Given the description of an element on the screen output the (x, y) to click on. 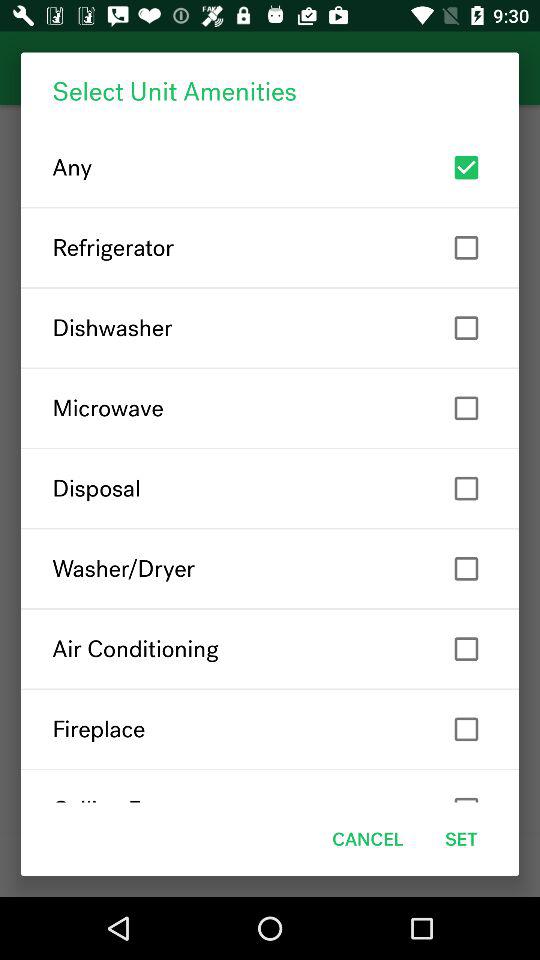
tap the item above the dishwasher (270, 247)
